Given the description of an element on the screen output the (x, y) to click on. 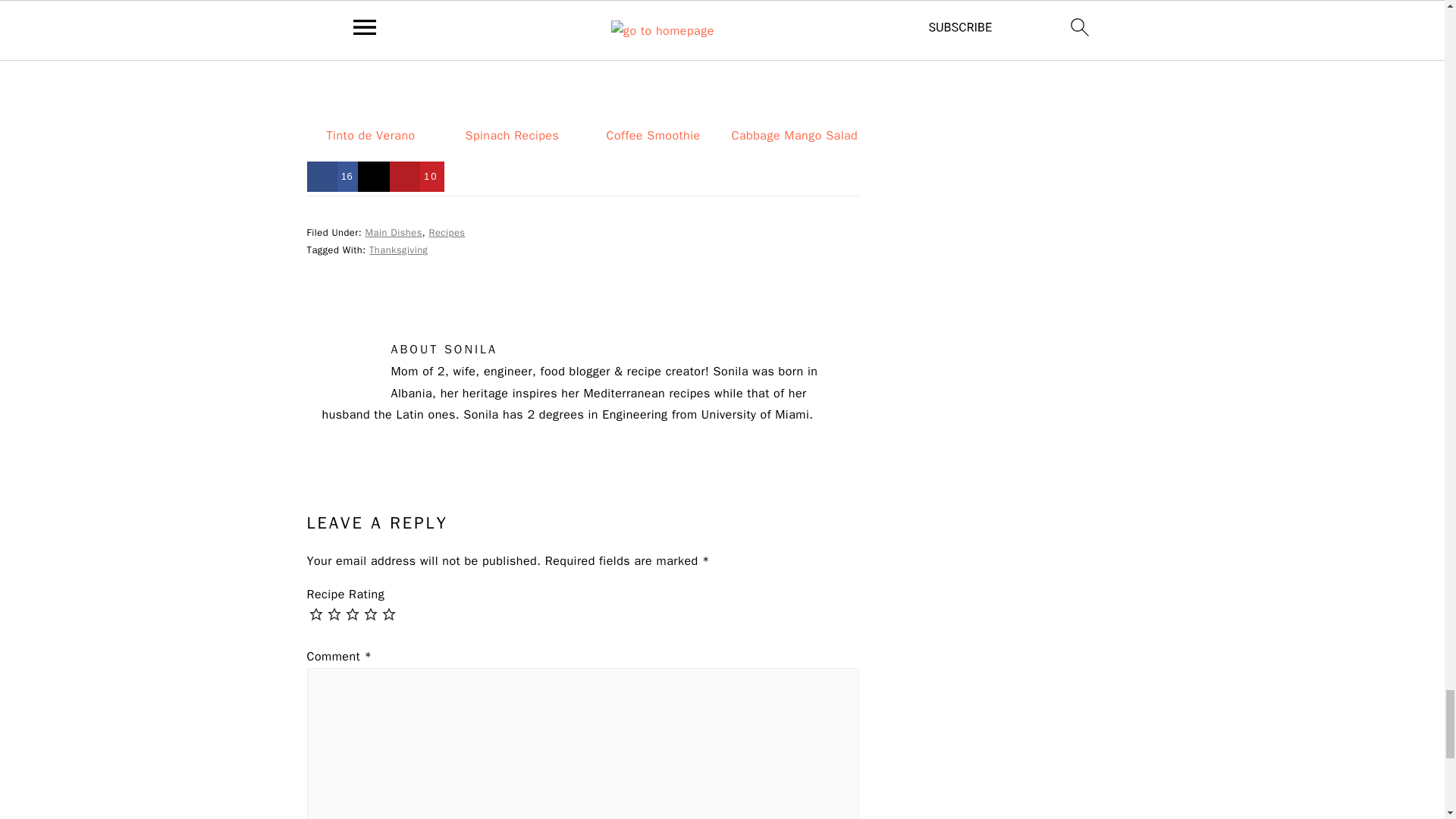
Share on X (374, 176)
Save to Pinterest (417, 176)
Share on Facebook (331, 176)
